Given the description of an element on the screen output the (x, y) to click on. 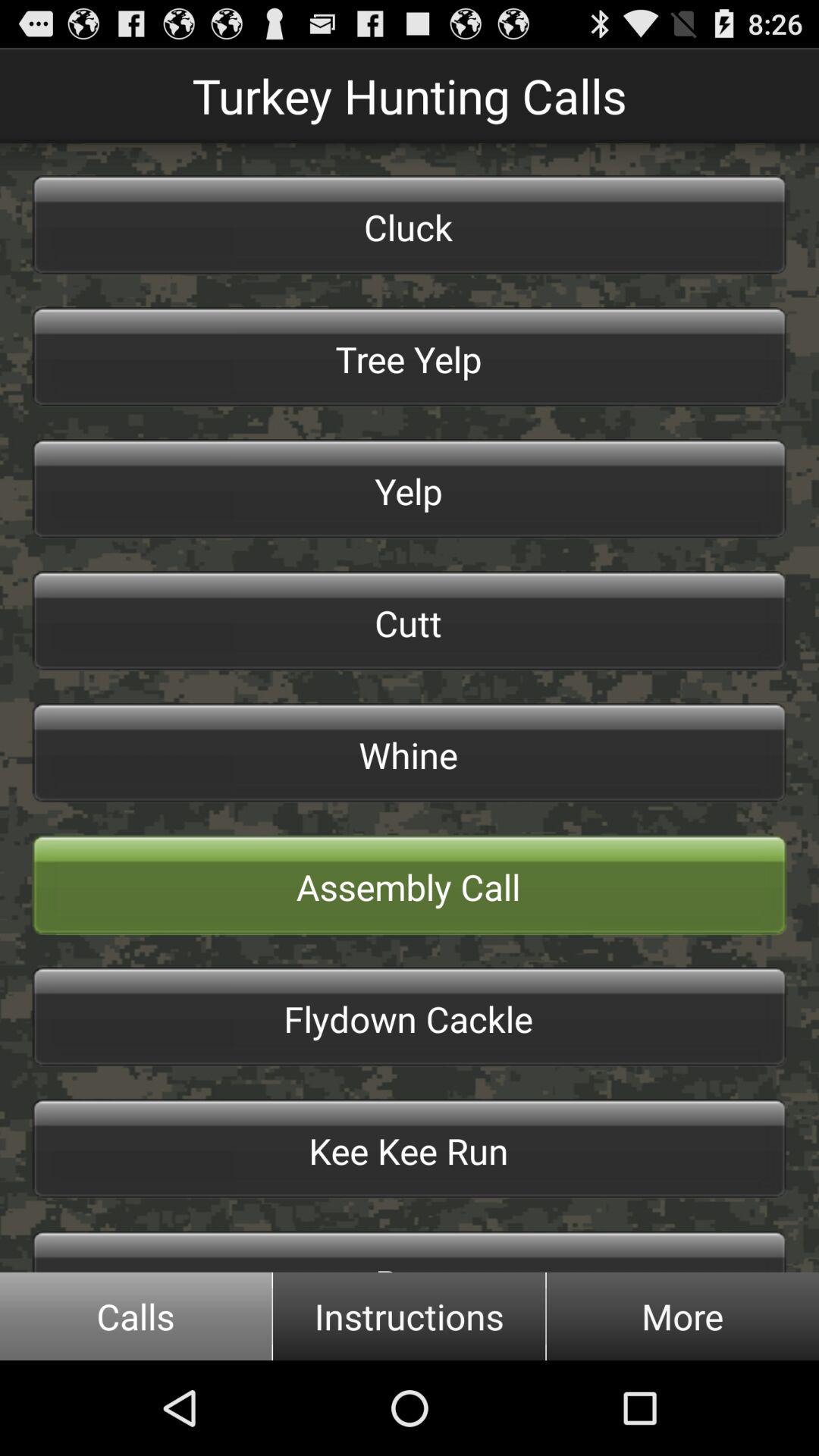
scroll until cutt (409, 621)
